Given the description of an element on the screen output the (x, y) to click on. 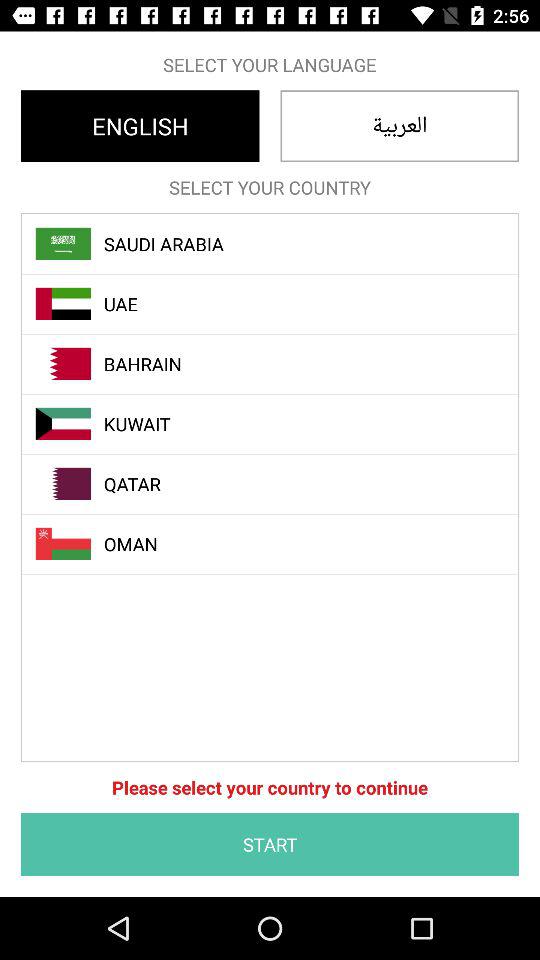
open the item above the qatar icon (281, 423)
